Given the description of an element on the screen output the (x, y) to click on. 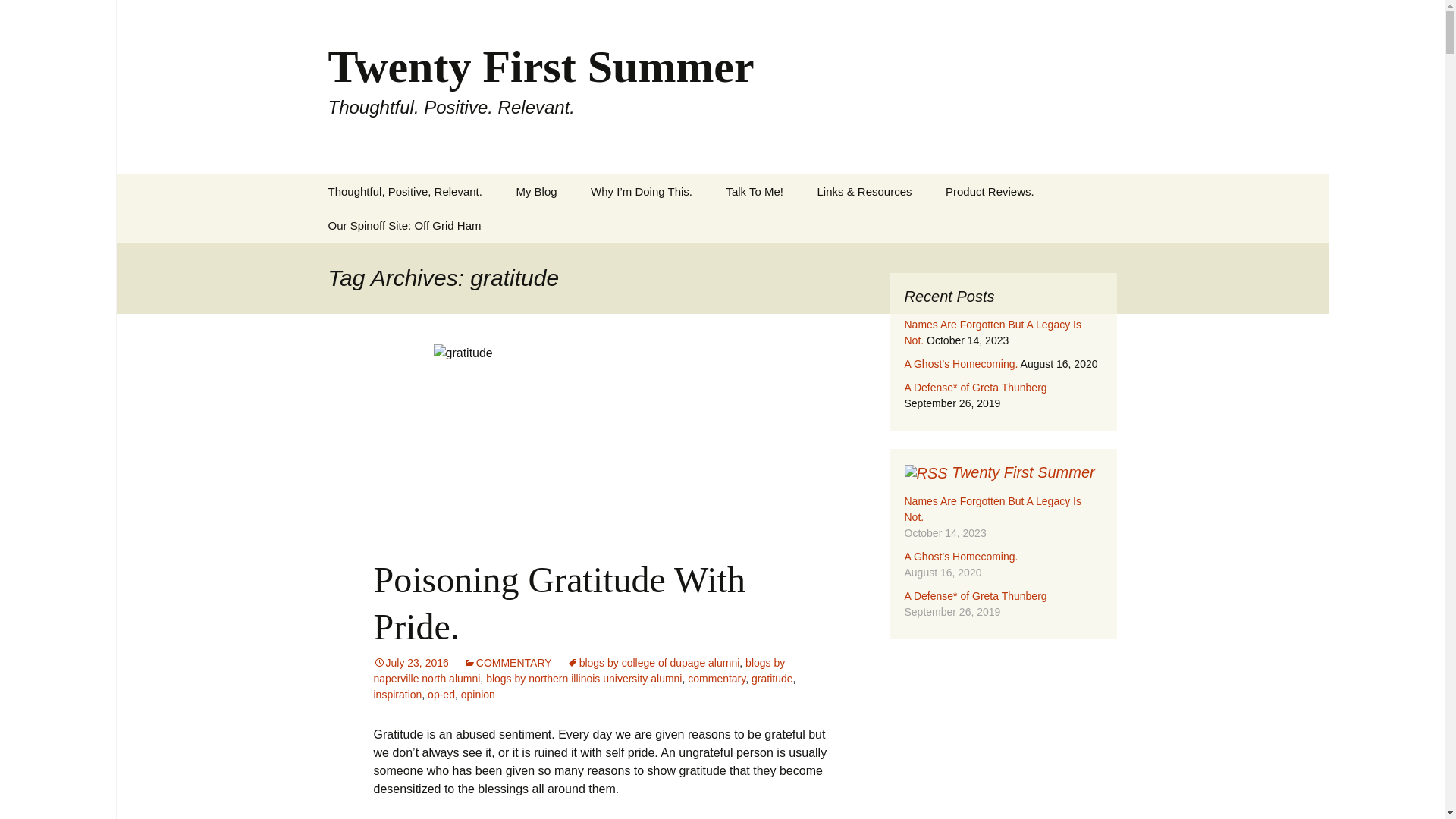
blogs by naperville north alumni (578, 670)
Poisoning Gratitude With Pride. (558, 603)
blogs by northern illinois university alumni (583, 678)
blogs by college of dupage alumni (653, 662)
Talk To Me! (753, 191)
inspiration (410, 662)
COMMENTARY (397, 694)
Skip to content (507, 662)
July 23, 2016 (771, 678)
Our Spinoff Site: Off Grid Ham (410, 662)
